Given the description of an element on the screen output the (x, y) to click on. 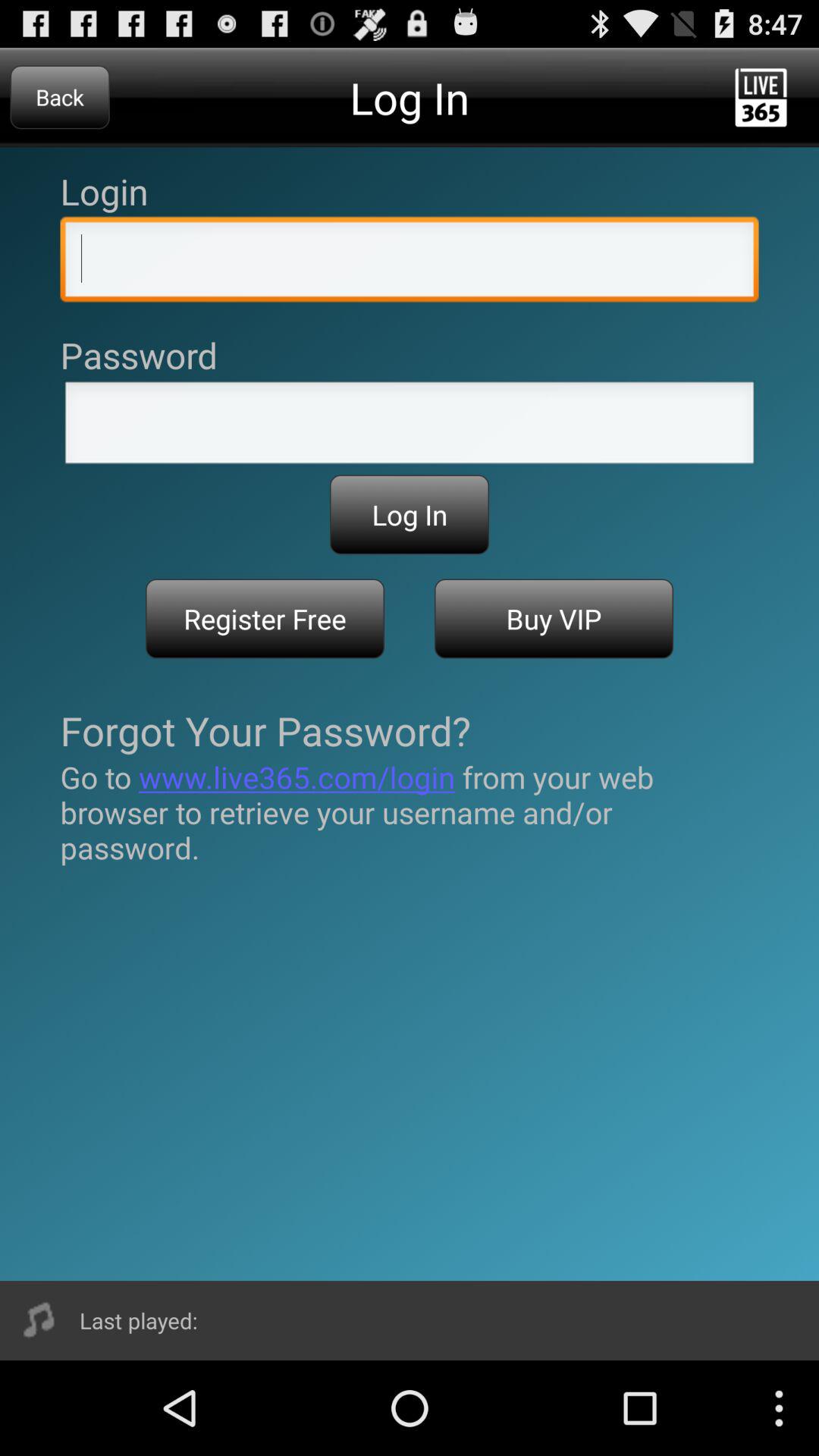
tap icon on the right (553, 618)
